Given the description of an element on the screen output the (x, y) to click on. 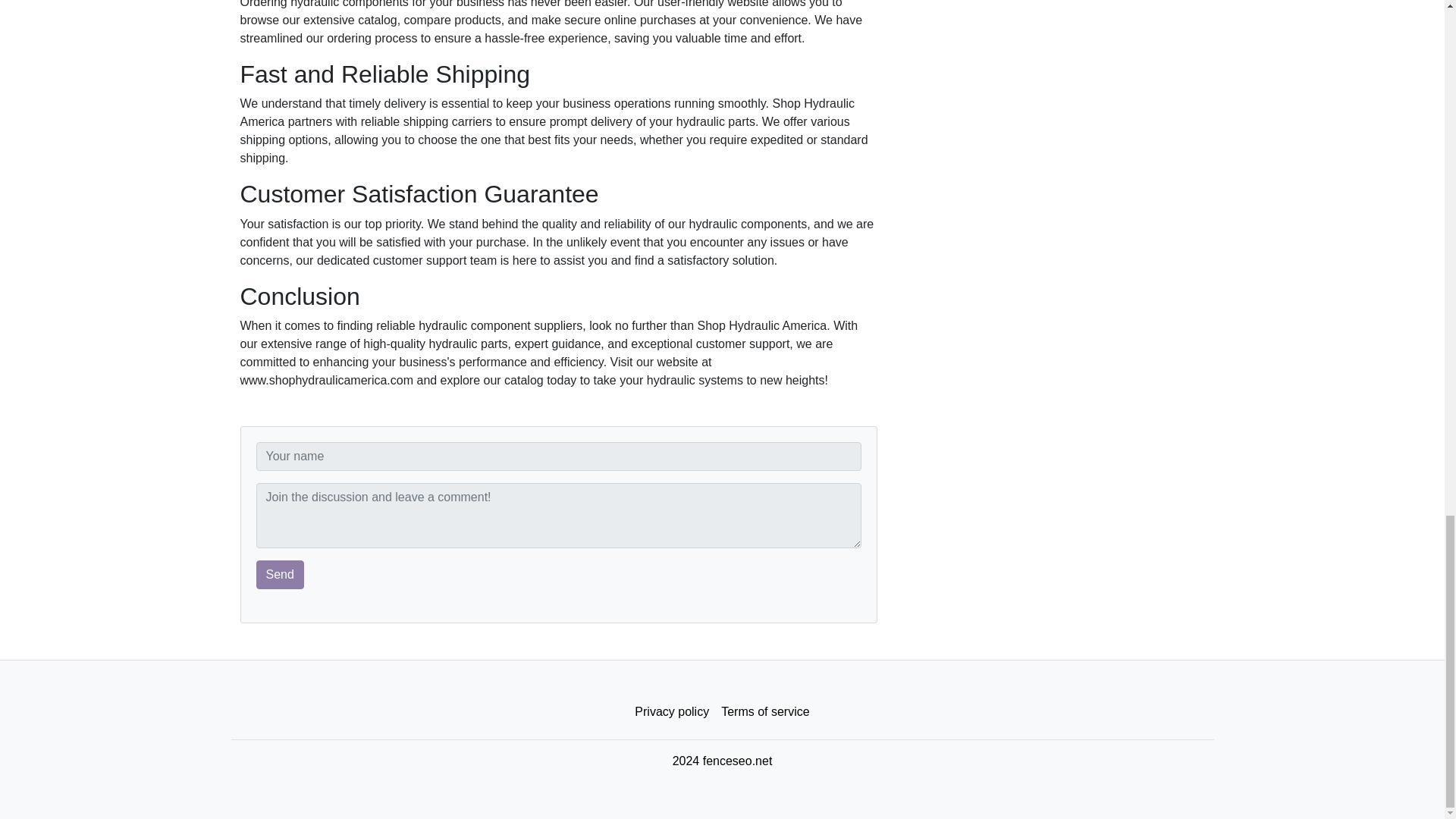
Send (280, 574)
Terms of service (764, 711)
Privacy policy (671, 711)
Send (280, 574)
